Given the description of an element on the screen output the (x, y) to click on. 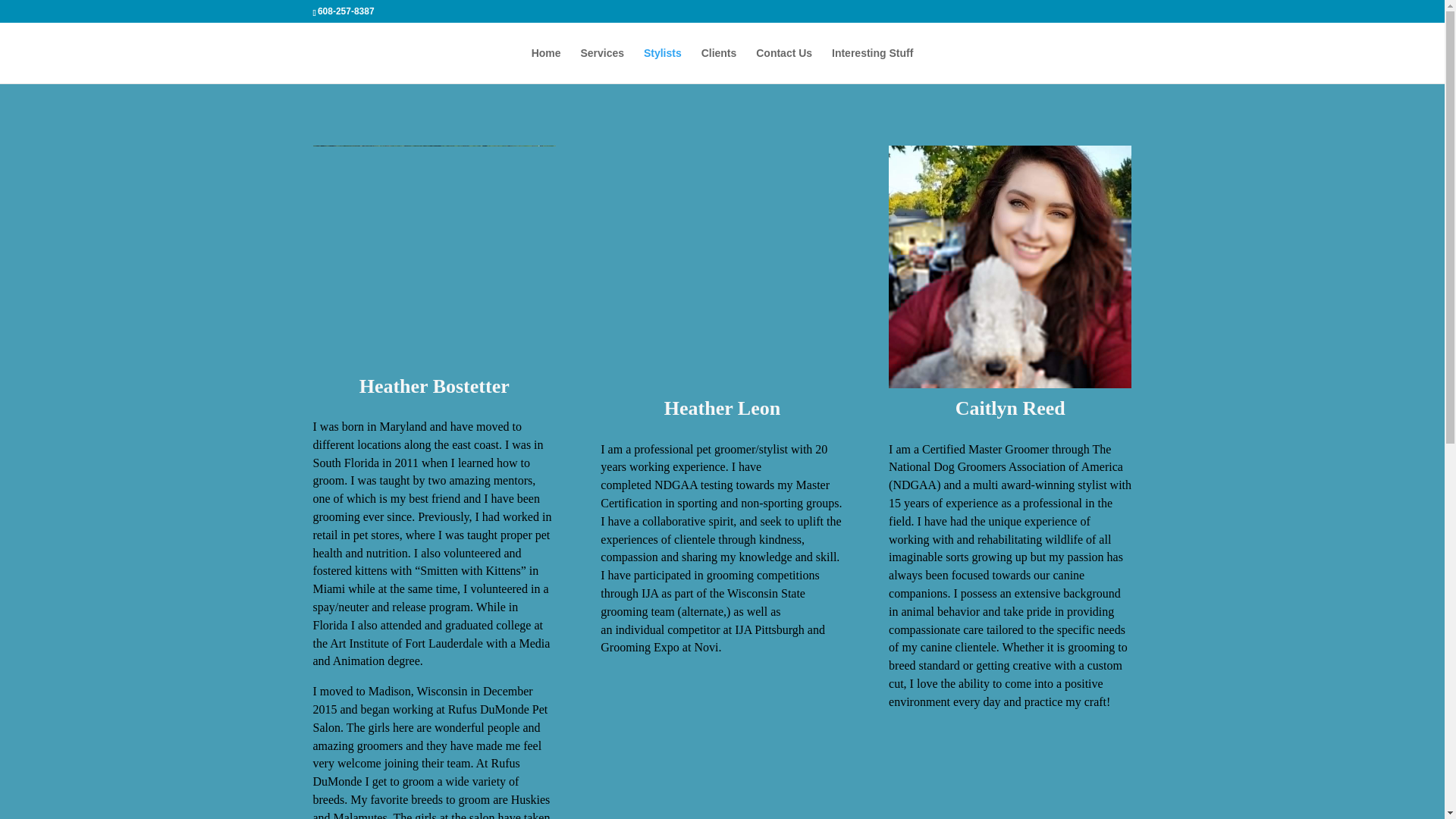
Interesting Stuff (871, 65)
Stylists (662, 65)
Clients (718, 65)
Contact Us (783, 65)
Services (601, 65)
